Given the description of an element on the screen output the (x, y) to click on. 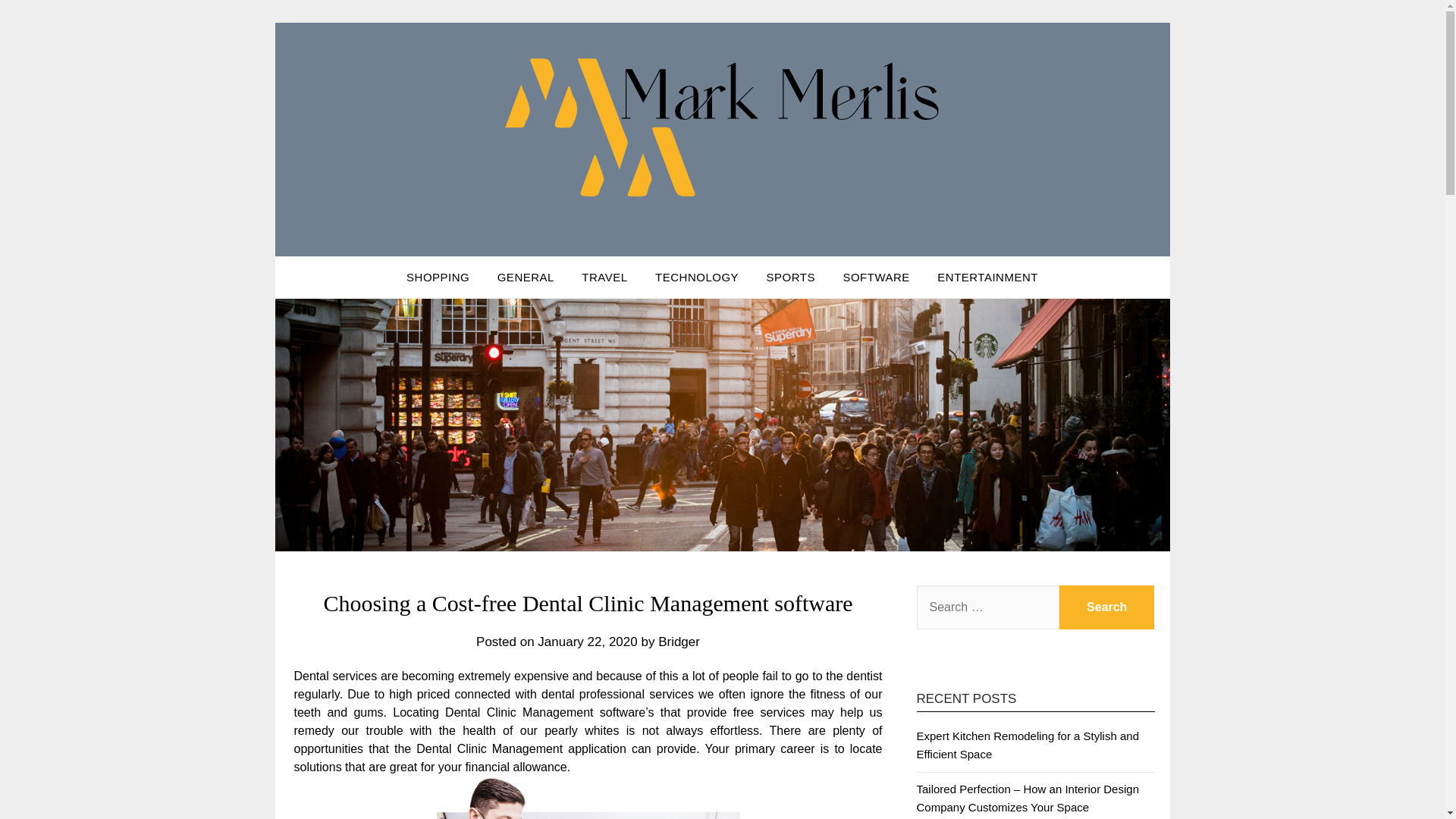
January 22, 2020 (587, 641)
Expert Kitchen Remodeling for a Stylish and Efficient Space (1026, 744)
SOFTWARE (875, 277)
TRAVEL (604, 277)
ENTERTAINMENT (986, 277)
TECHNOLOGY (697, 277)
GENERAL (525, 277)
SHOPPING (437, 277)
Bridger (679, 641)
Search (1106, 607)
